Given the description of an element on the screen output the (x, y) to click on. 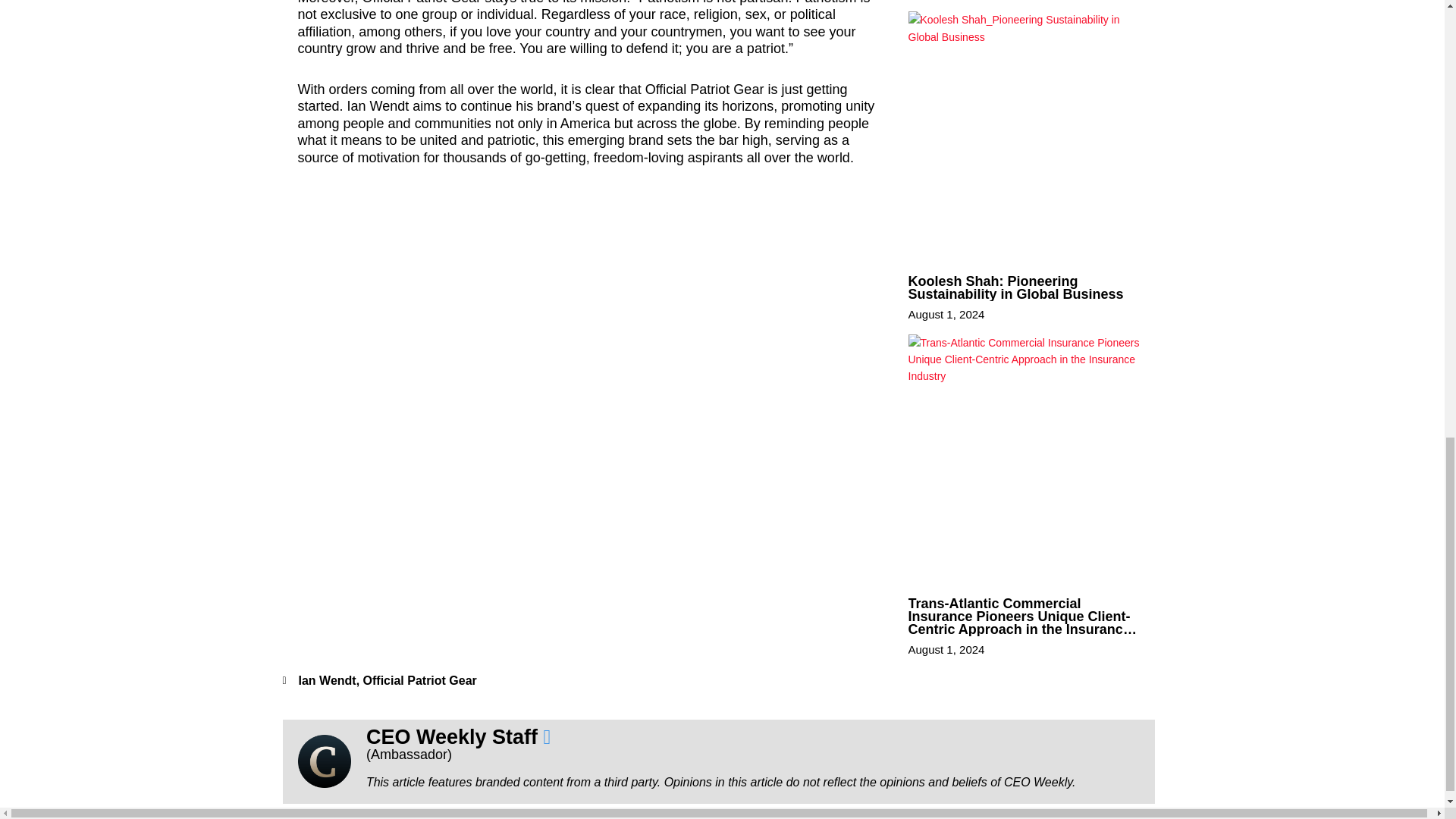
Ian Wendt (327, 680)
Official Patriot Gear (419, 680)
Koolesh Shah: Pioneering Sustainability in Global Business (1016, 287)
